Given the description of an element on the screen output the (x, y) to click on. 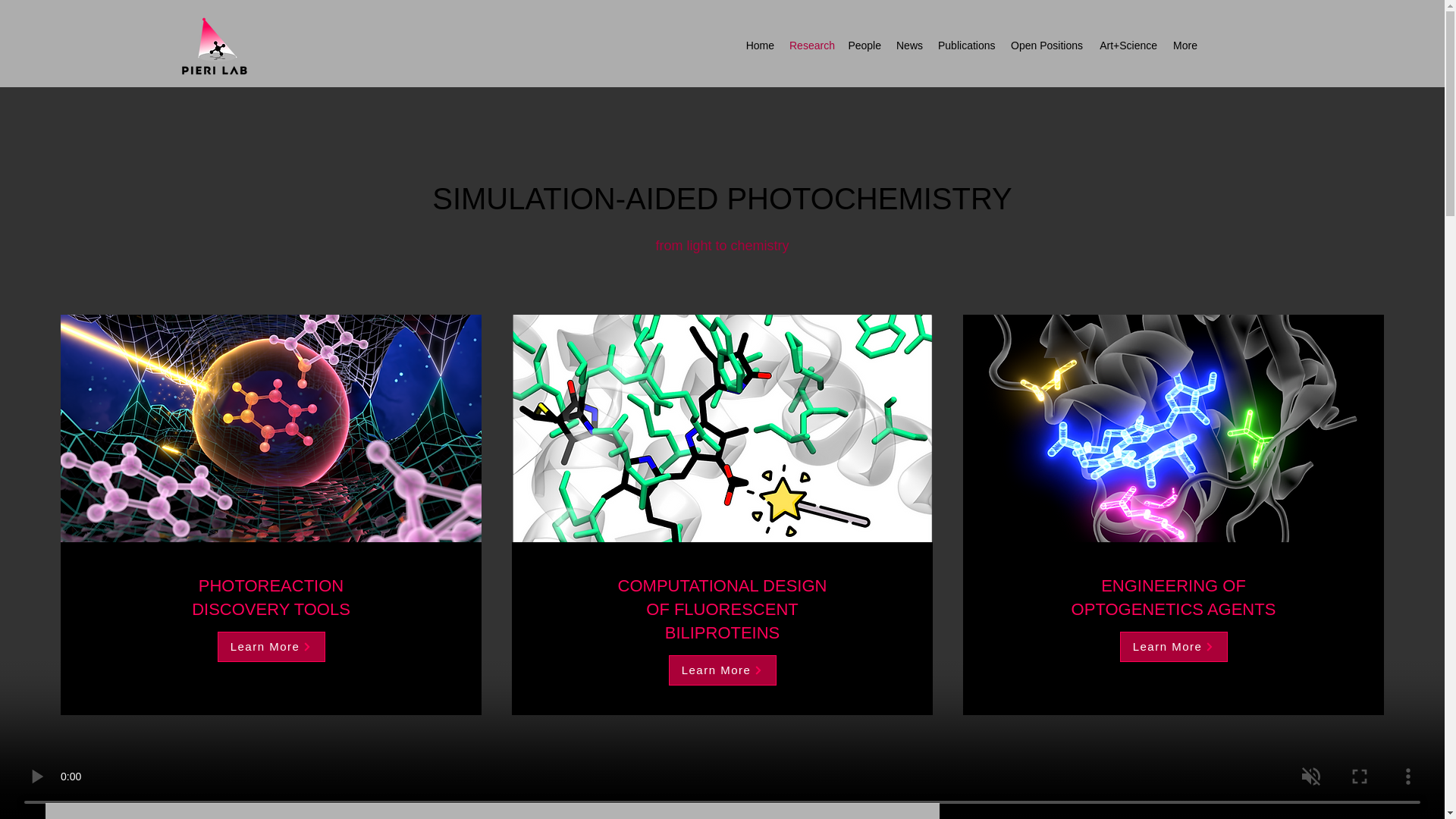
Learn More (722, 670)
Learn More (270, 646)
People (864, 45)
Learn More (1173, 646)
Publications (966, 45)
Research (810, 45)
News (909, 45)
Open Positions (1046, 45)
Home (759, 45)
